Given the description of an element on the screen output the (x, y) to click on. 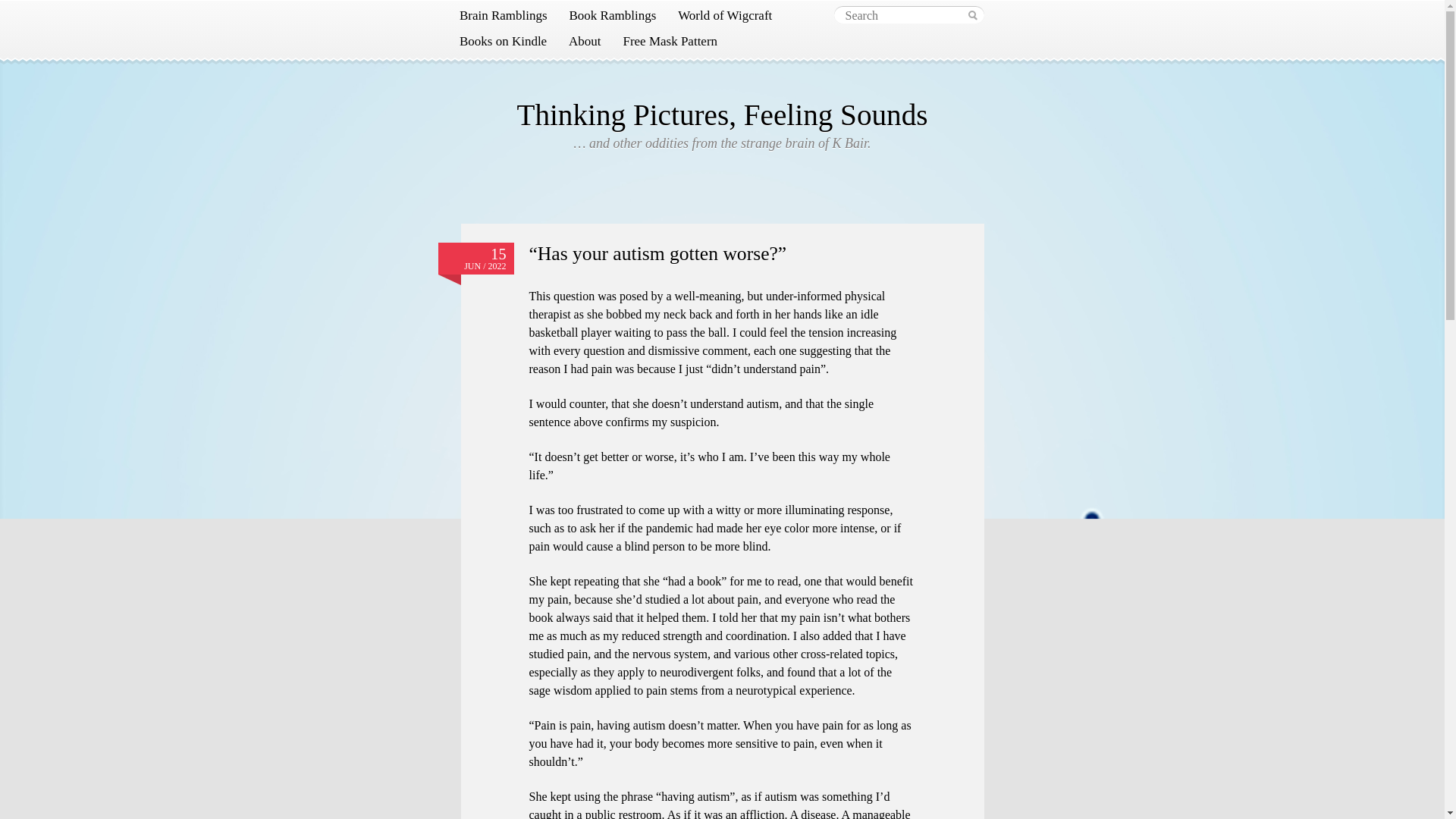
World of Wigcraft (724, 15)
Book Ramblings (611, 15)
Free Mask Pattern (670, 41)
Thinking Pictures, Feeling Sounds (721, 114)
About (584, 41)
Brain Ramblings (503, 15)
Thinking Pictures, Feeling Sounds (721, 114)
Books on Kindle (502, 41)
